Given the description of an element on the screen output the (x, y) to click on. 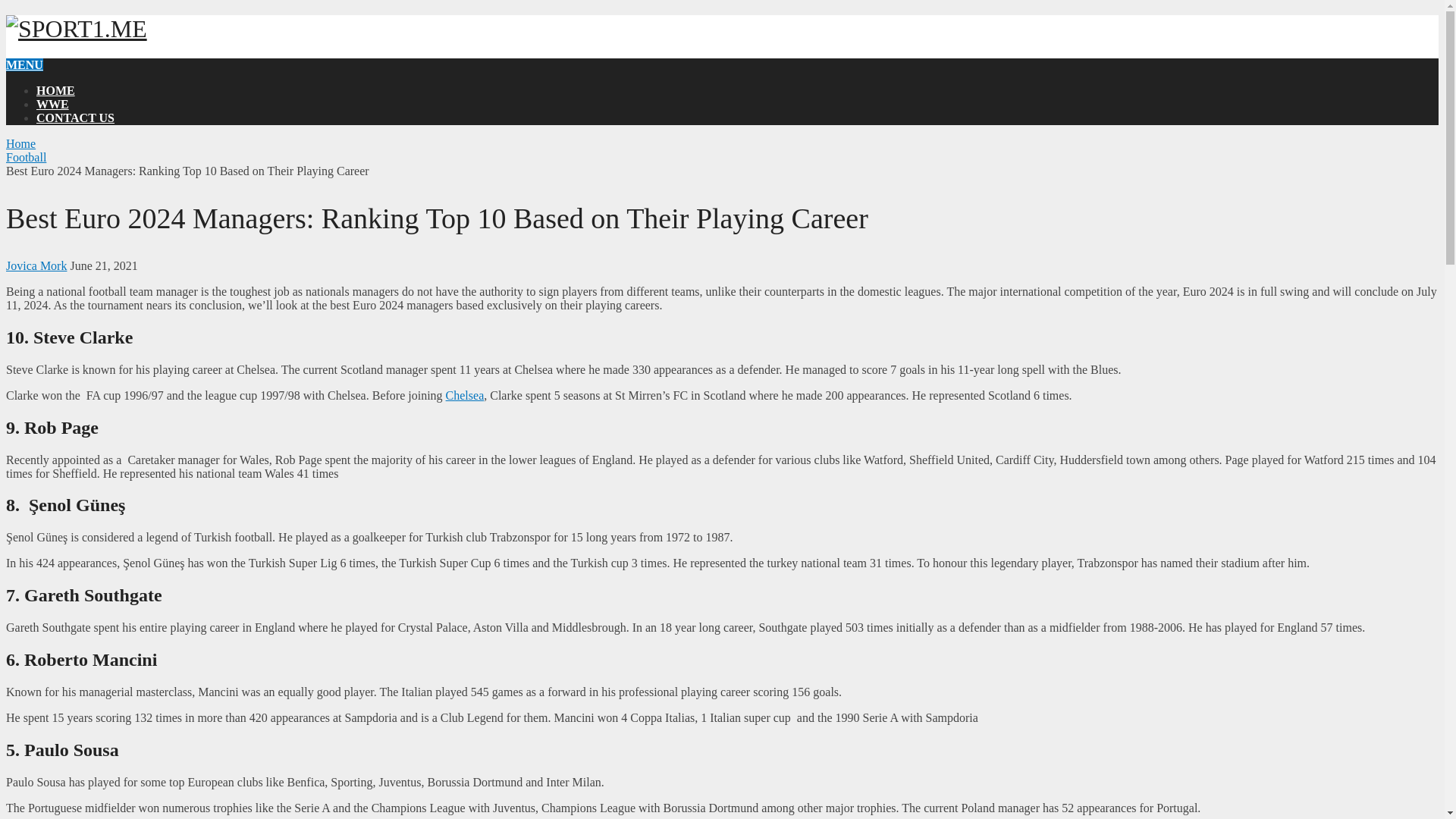
Jovica Mork (35, 265)
Posts by Jovica Mork (35, 265)
WWE (52, 103)
Home (19, 143)
Football (25, 156)
CONTACT US (75, 117)
Chelsea (464, 395)
MENU (24, 64)
HOME (55, 90)
